Given the description of an element on the screen output the (x, y) to click on. 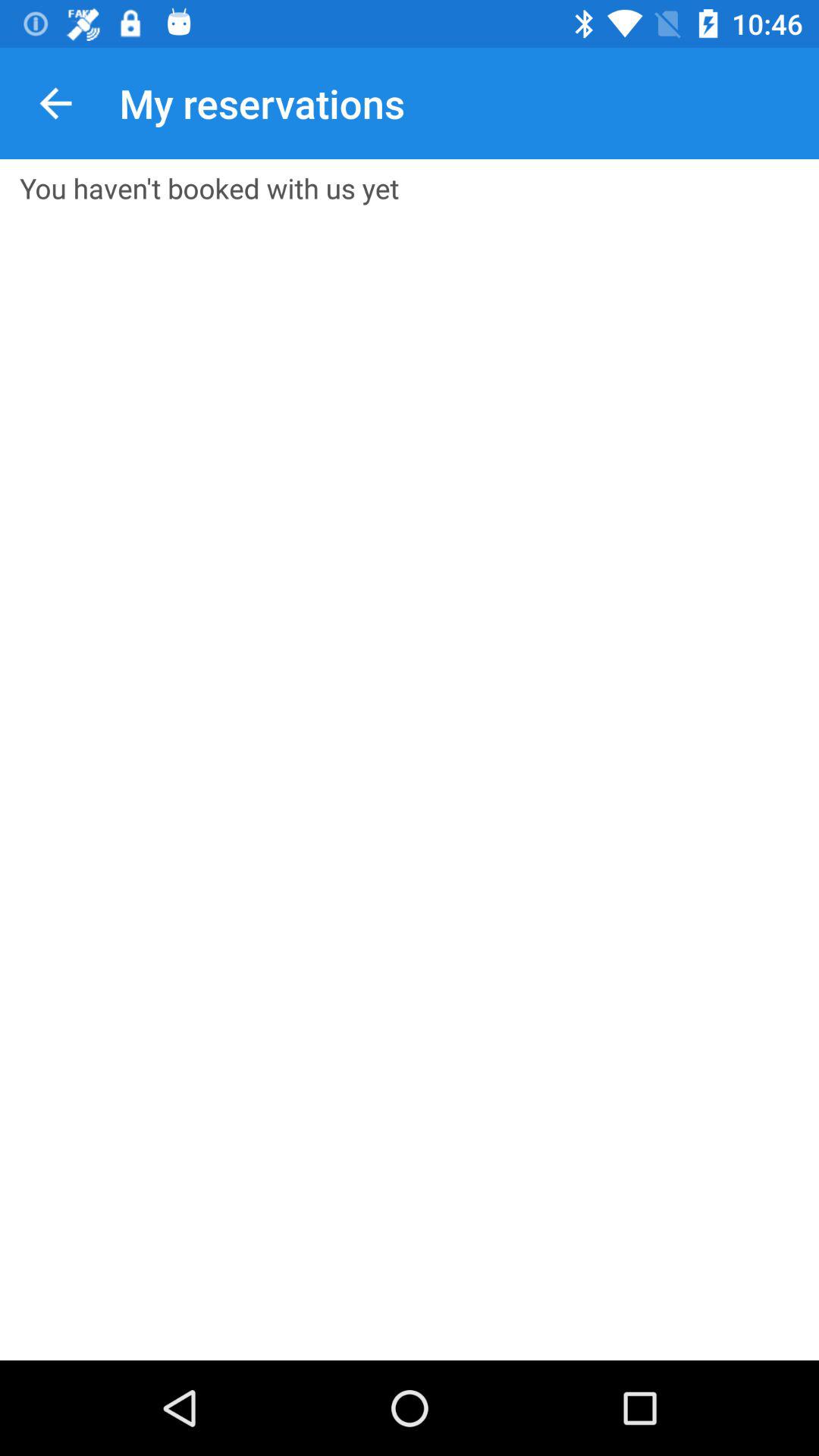
select app next to my reservations icon (55, 103)
